Given the description of an element on the screen output the (x, y) to click on. 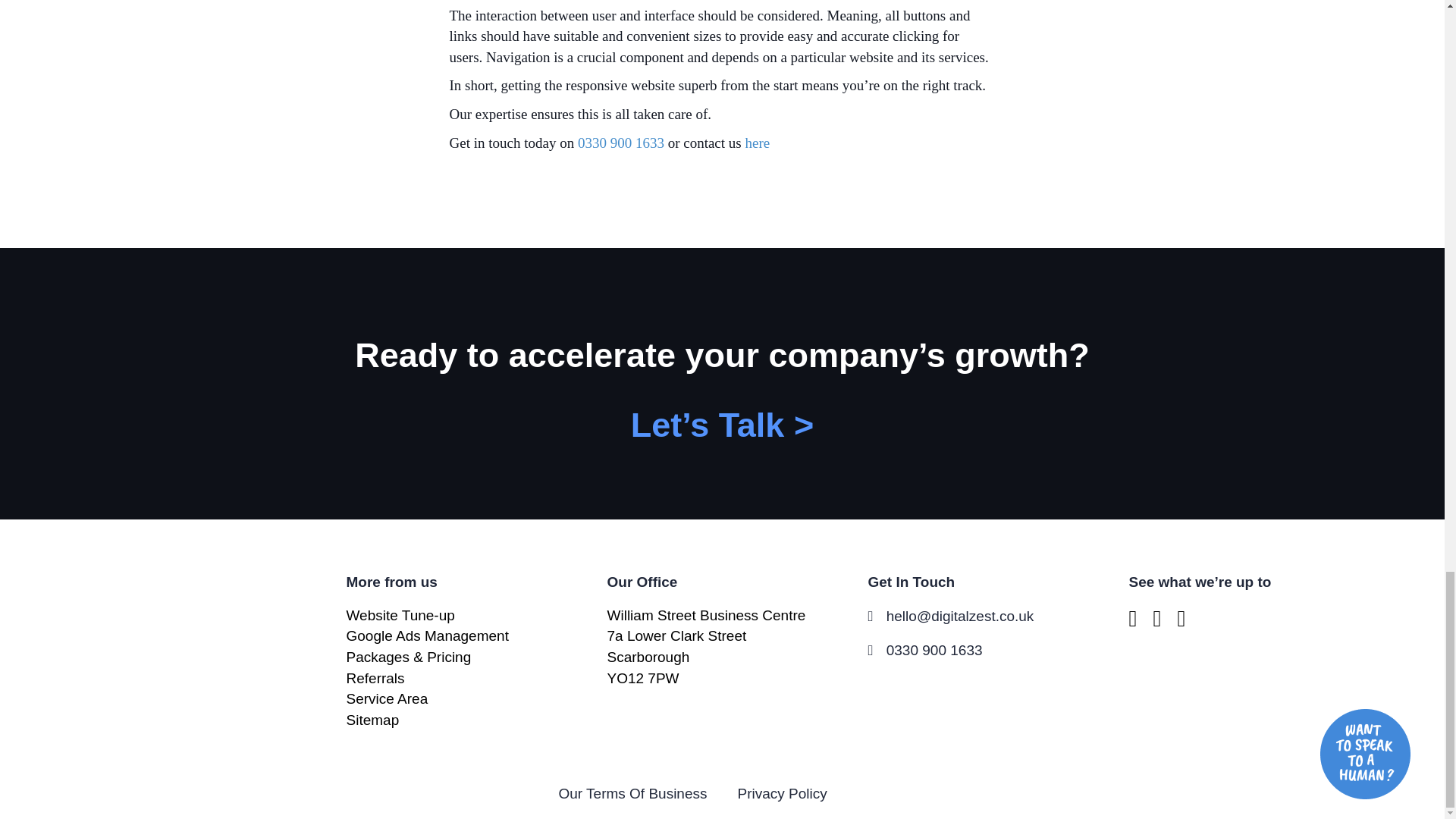
0330 900 1633 (618, 142)
Service Area (387, 698)
here (757, 142)
Referrals (375, 678)
Google Ads Management (427, 635)
Website Tune-up (400, 615)
Sitemap (372, 719)
